Given the description of an element on the screen output the (x, y) to click on. 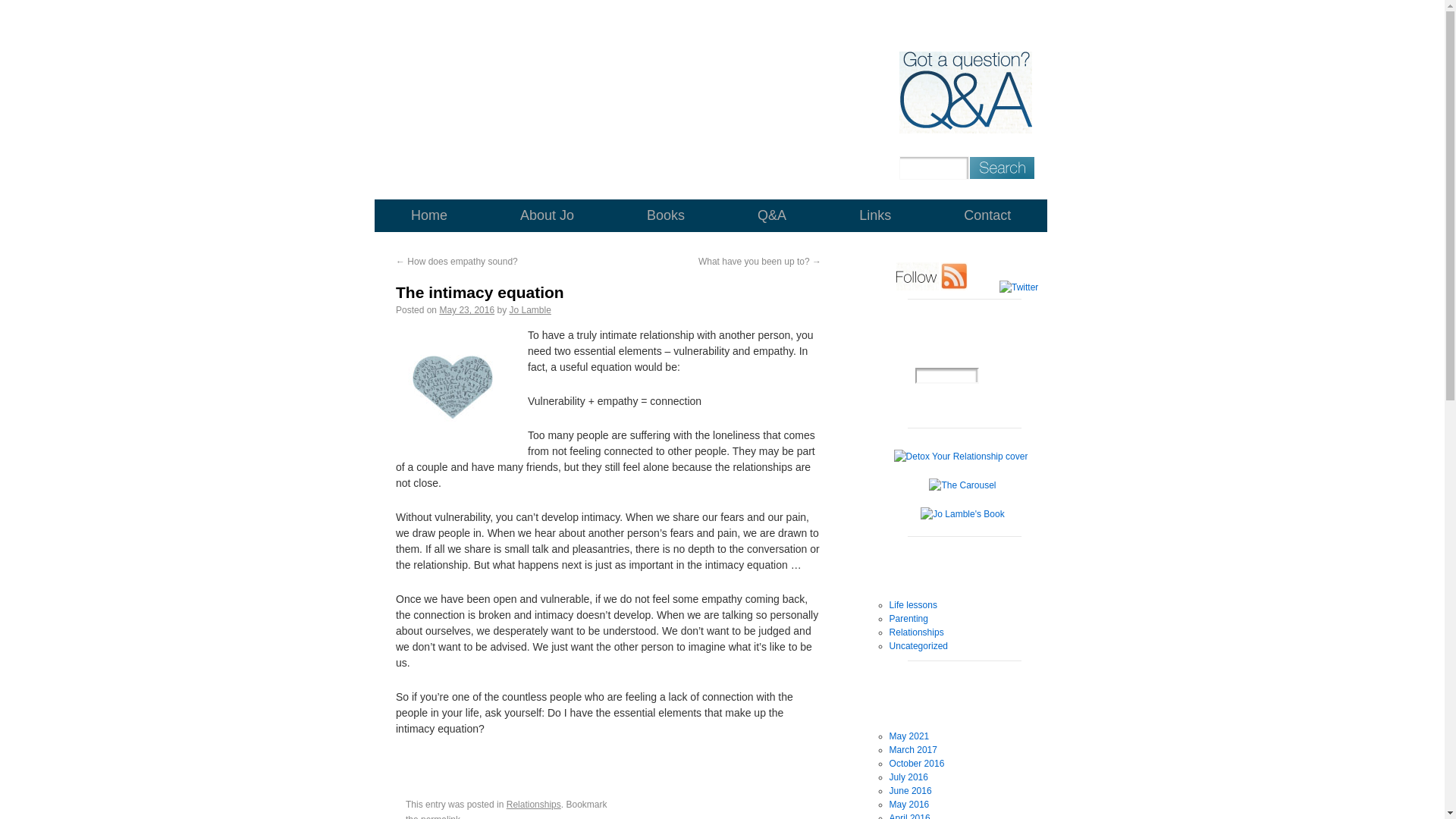
Relationships (533, 804)
October 2016 (916, 763)
View all posts by Jo Lamble (529, 309)
Home (428, 215)
March 2017 (913, 749)
Jo Lamble (529, 309)
Subscribe (948, 404)
Contact (986, 215)
June 2016 (910, 790)
5:34 pm (467, 309)
Books (665, 215)
Links (874, 215)
Uncategorized (918, 645)
May 2021 (909, 736)
permalink (440, 816)
